Given the description of an element on the screen output the (x, y) to click on. 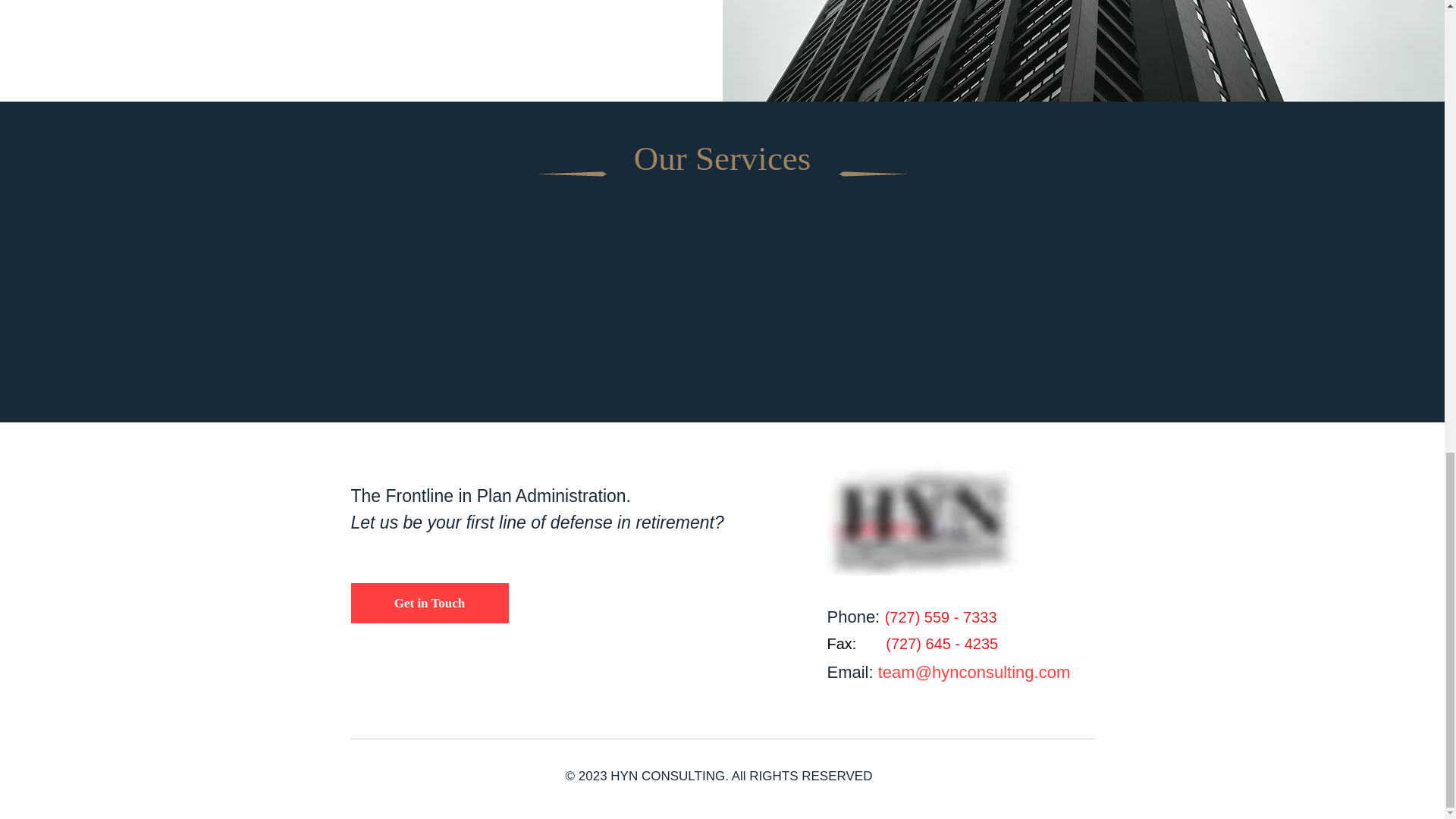
Get in Touch (429, 603)
